Given the description of an element on the screen output the (x, y) to click on. 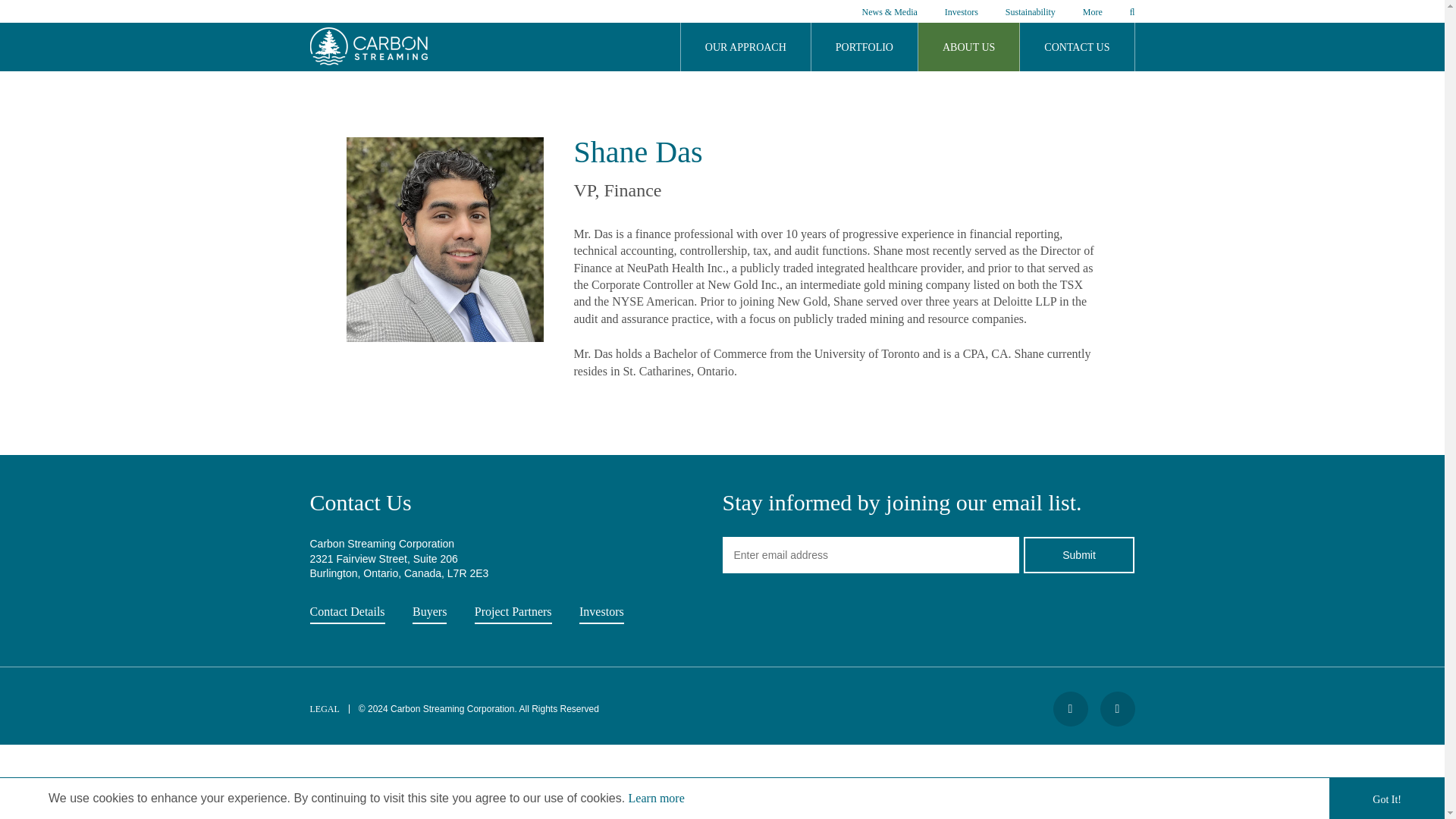
PORTFOLIO (863, 46)
Follow us on Twitter (1069, 708)
ABOUT US (968, 46)
Investors (961, 13)
OUR APPROACH (745, 46)
Sustainability (1030, 13)
Home (367, 60)
More (1092, 13)
Follow us on LinkedIn (1116, 708)
